Given the description of an element on the screen output the (x, y) to click on. 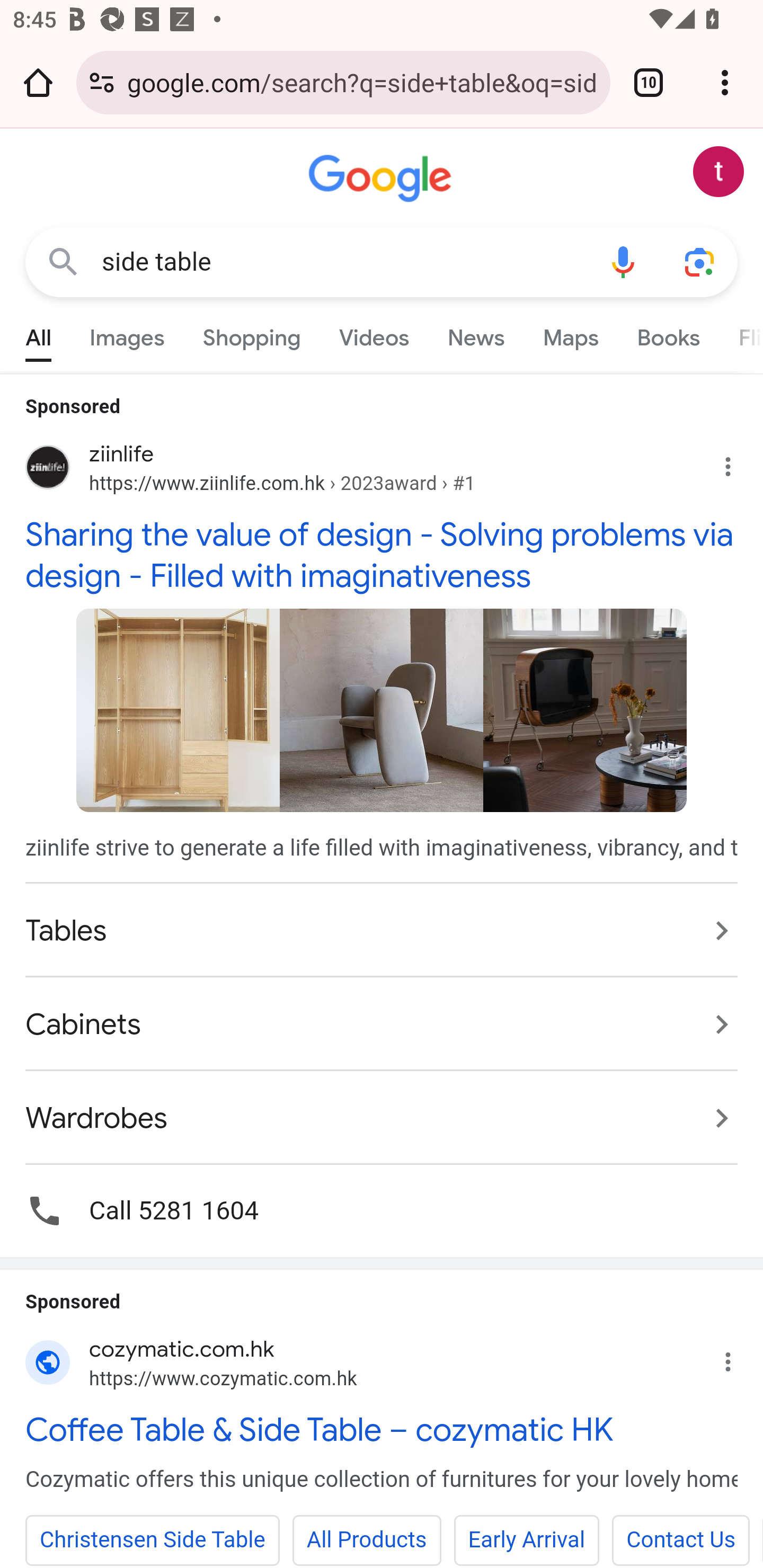
Open the home page (38, 82)
Connection is secure (101, 82)
Switch or close tabs (648, 82)
Customize and control Google Chrome (724, 82)
Google (381, 179)
Google Search (63, 262)
Search using your camera or photos (699, 262)
side table (343, 261)
Images (127, 333)
Shopping (252, 333)
Videos (373, 333)
News (475, 333)
Maps (570, 333)
Books (668, 333)
Why this ad? (738, 462)
Image from ziinlife.com.hk (178, 709)
Image from ziinlife.com.hk (381, 709)
Image from ziinlife.com.hk (584, 709)
Tables (381, 930)
Cabinets (381, 1023)
Wardrobes (381, 1108)
Call 5281 1604 (381, 1210)
Why this ad? (738, 1356)
Coffee Table & Side Table – cozymatic HK (381, 1429)
Christensen Side Table (152, 1540)
All Products (365, 1540)
Early Arrival (527, 1540)
Contact Us (680, 1540)
